Given the description of an element on the screen output the (x, y) to click on. 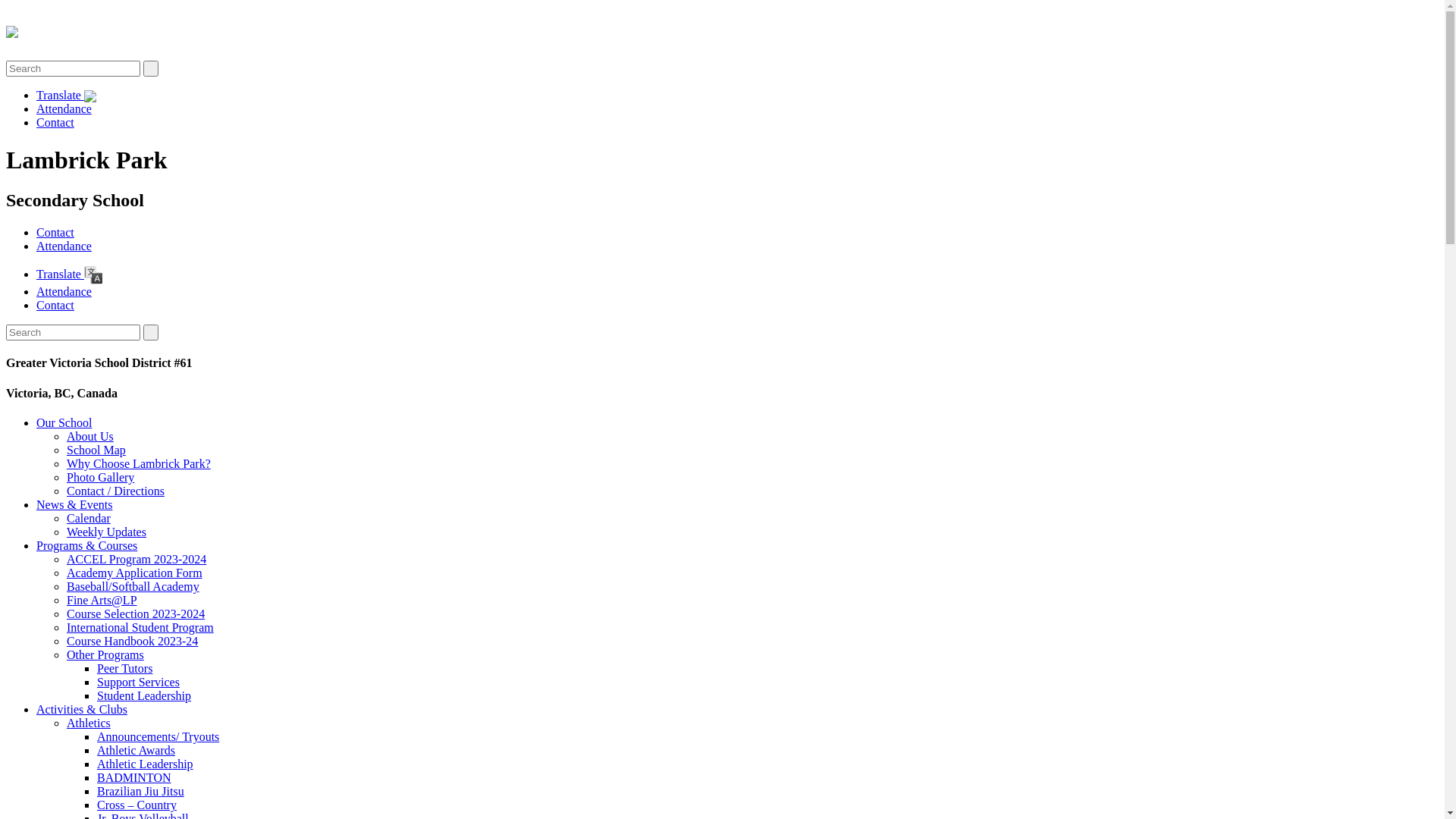
Athletic Awards Element type: text (136, 749)
  Element type: text (150, 332)
Activities & Clubs Element type: text (81, 708)
Our School Element type: text (63, 422)
About Us Element type: text (89, 435)
Athletics Element type: text (88, 722)
Course Handbook 2023-24 Element type: text (131, 640)
Weekly Updates Element type: text (106, 531)
Support Services Element type: text (138, 681)
Peer Tutors Element type: text (124, 668)
International Student Program Element type: text (139, 627)
Contact Element type: text (55, 304)
Announcements/ Tryouts Element type: text (158, 736)
Fine Arts@LP Element type: text (101, 599)
Course Selection 2023-2024 Element type: text (135, 613)
Athletic Leadership Element type: text (145, 763)
Baseball/Softball Academy Element type: text (132, 586)
Other Programs Element type: text (105, 654)
Programs & Courses Element type: text (86, 545)
ACCEL Program 2023-2024 Element type: text (136, 558)
Contact / Directions Element type: text (115, 490)
Student Leadership Element type: text (144, 695)
Brazilian Jiu Jitsu Element type: text (140, 790)
BADMINTON Element type: text (133, 777)
Attendance Element type: text (63, 108)
Contact Element type: text (55, 231)
Why Choose Lambrick Park? Element type: text (138, 463)
  Element type: text (150, 68)
Calendar Element type: text (88, 517)
School Map Element type: text (95, 449)
Translate Element type: text (69, 273)
Contact Element type: text (55, 122)
Attendance Element type: text (63, 291)
Photo Gallery Element type: text (100, 476)
Academy Application Form Element type: text (134, 572)
Translate Element type: text (66, 94)
Attendance Element type: text (63, 245)
News & Events Element type: text (74, 504)
